Given the description of an element on the screen output the (x, y) to click on. 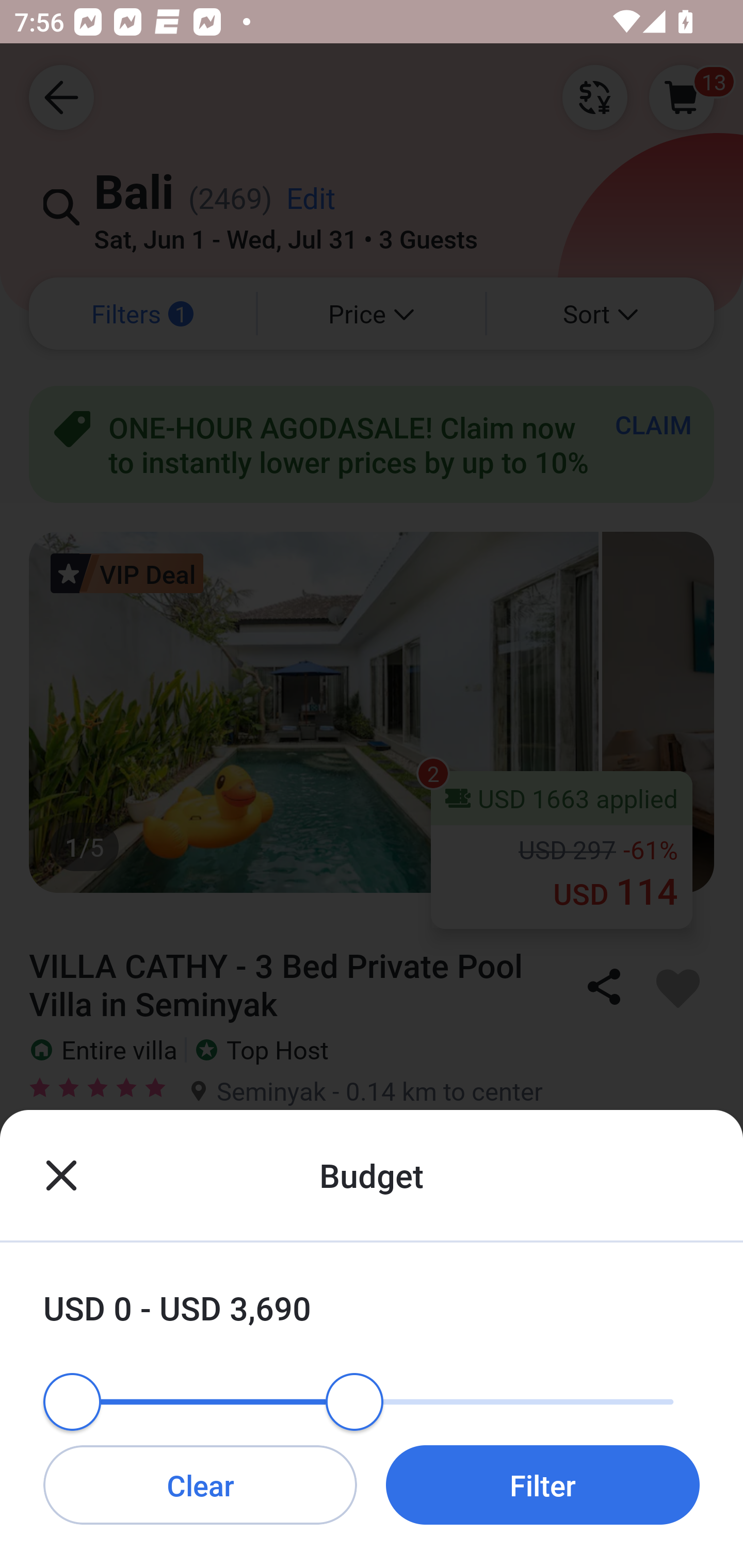
2 rewards applied USD 1663 off (371, 1298)
Clear (200, 1484)
Filter (542, 1484)
